Given the description of an element on the screen output the (x, y) to click on. 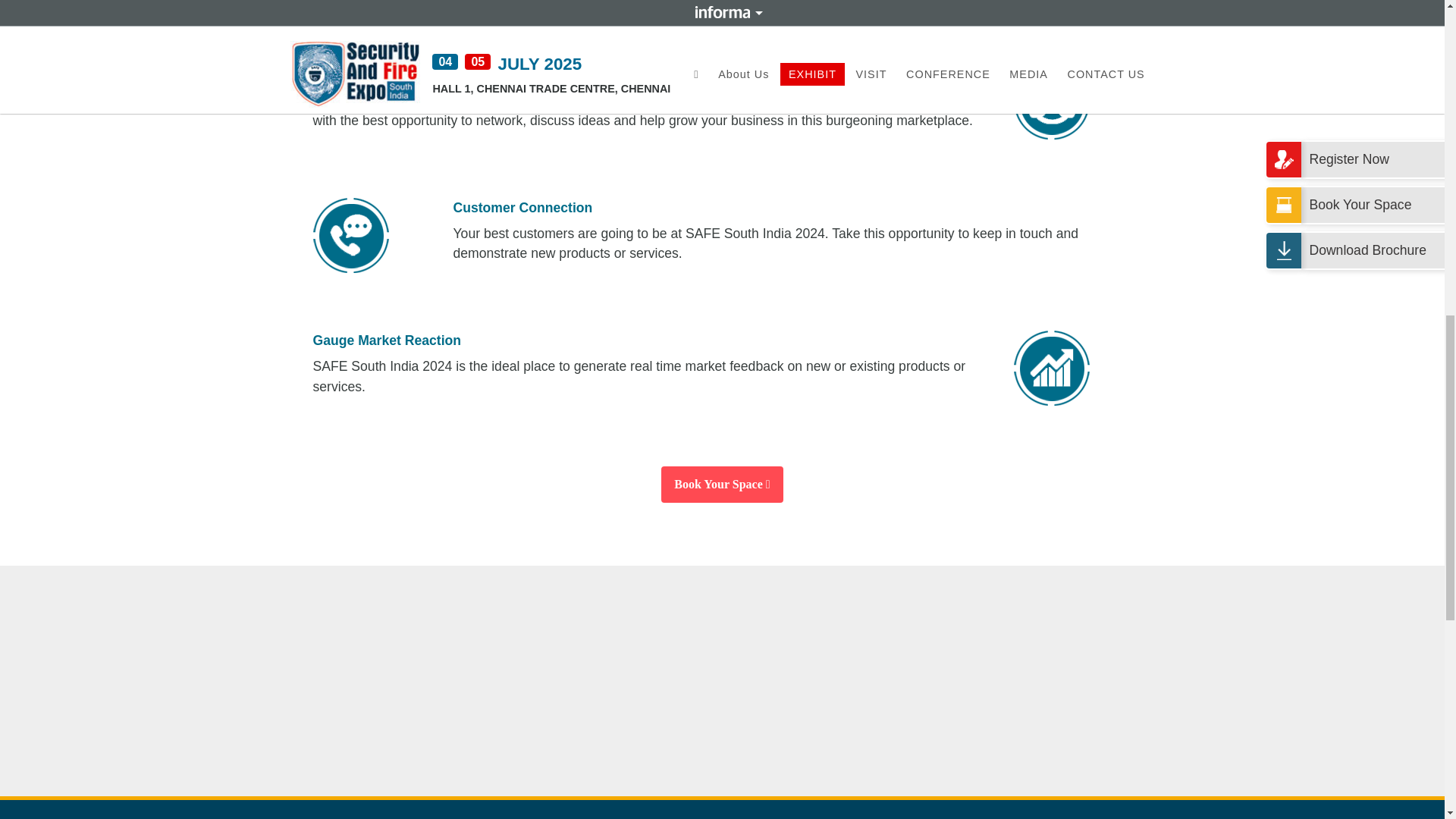
Book Your Space (722, 484)
